Given the description of an element on the screen output the (x, y) to click on. 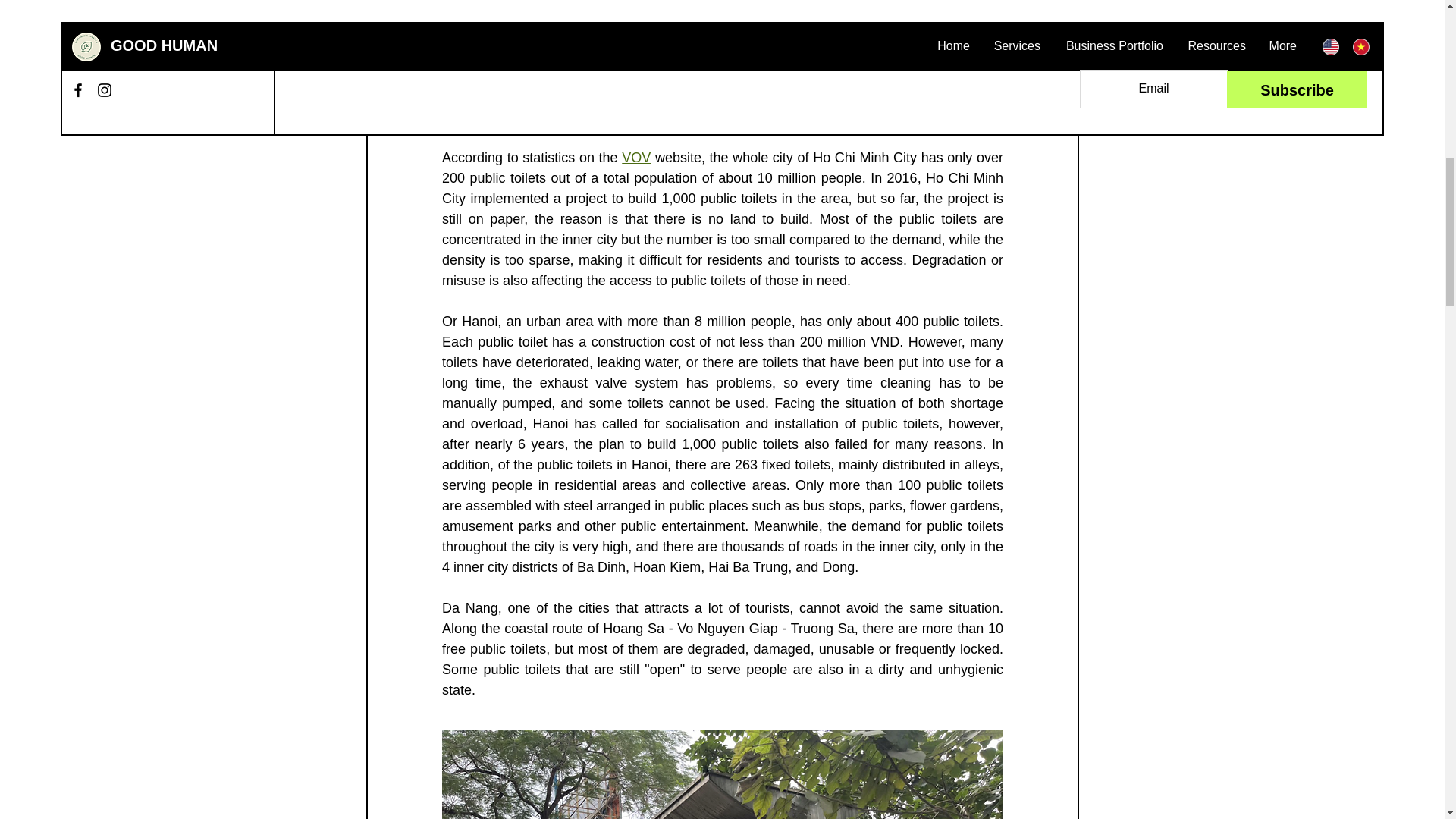
VOV (635, 157)
